Given the description of an element on the screen output the (x, y) to click on. 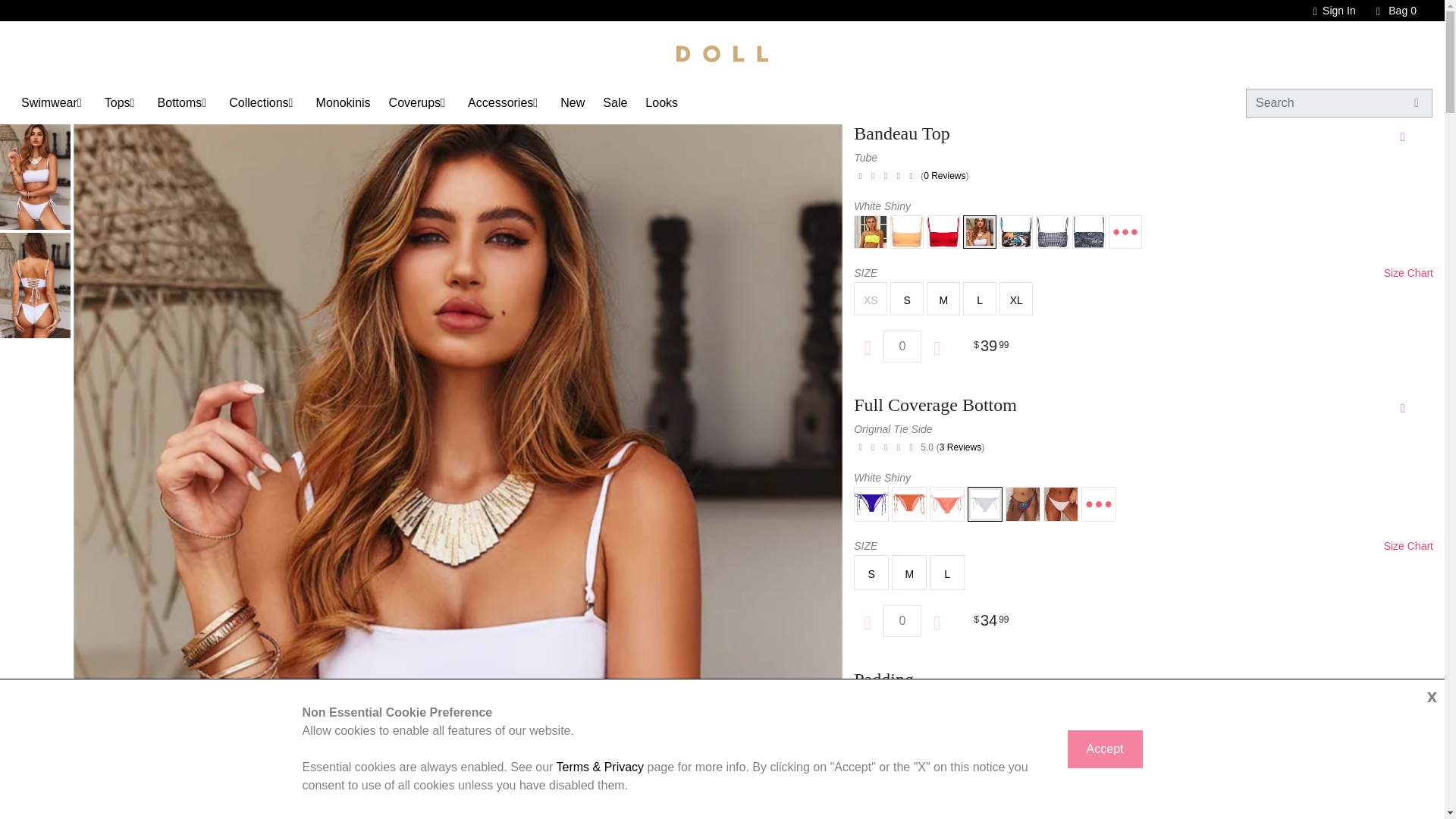
Swimwear (48, 102)
Bag0 (1388, 10)
Tops (117, 102)
Bottoms (179, 102)
Sign In (1326, 10)
0 (902, 346)
Accept (1104, 749)
0 (902, 621)
Collections (258, 102)
